Given the description of an element on the screen output the (x, y) to click on. 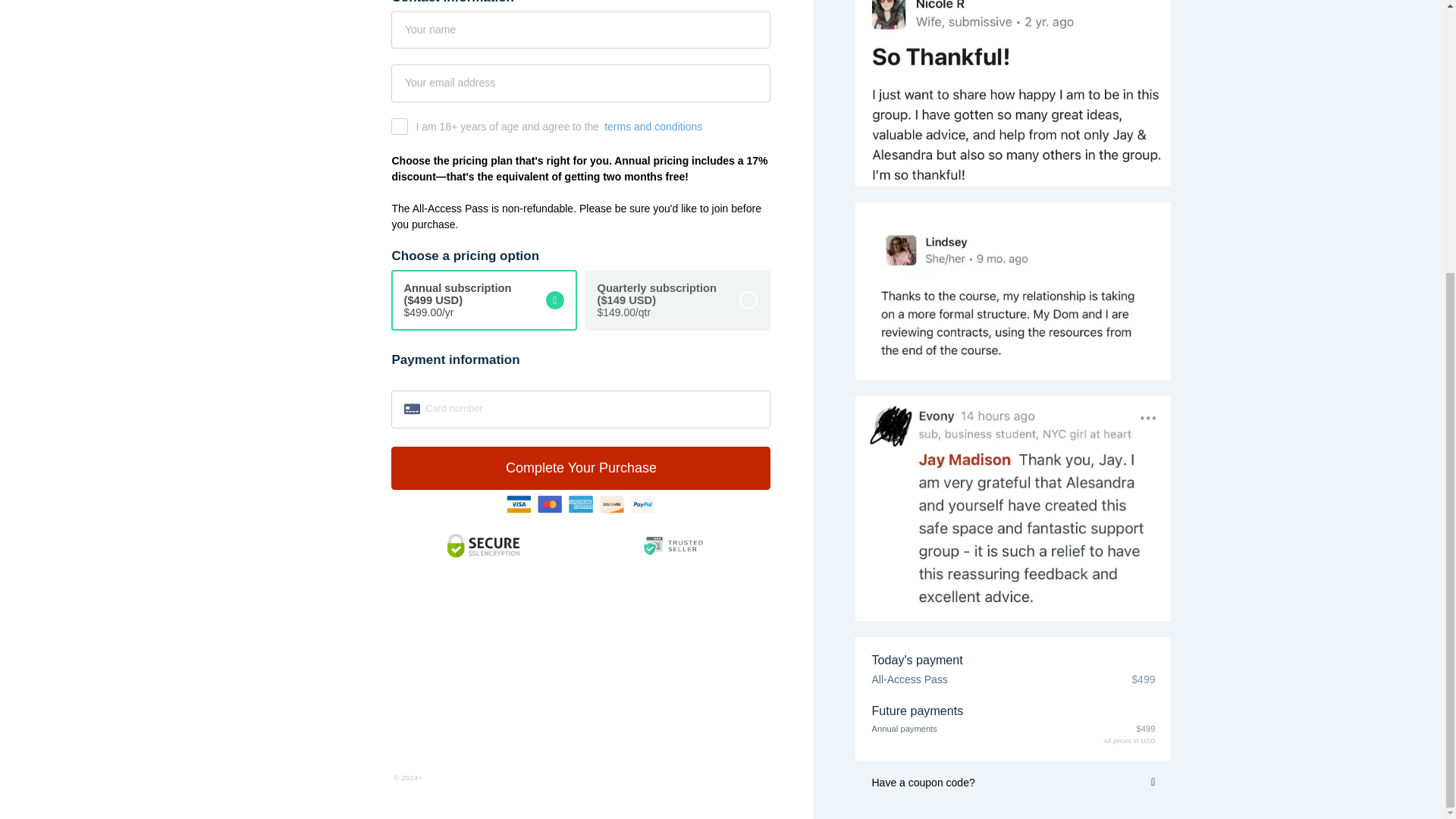
terms and conditions (652, 126)
Complete Your Purchase (580, 467)
Secure card payment input frame (581, 408)
